Given the description of an element on the screen output the (x, y) to click on. 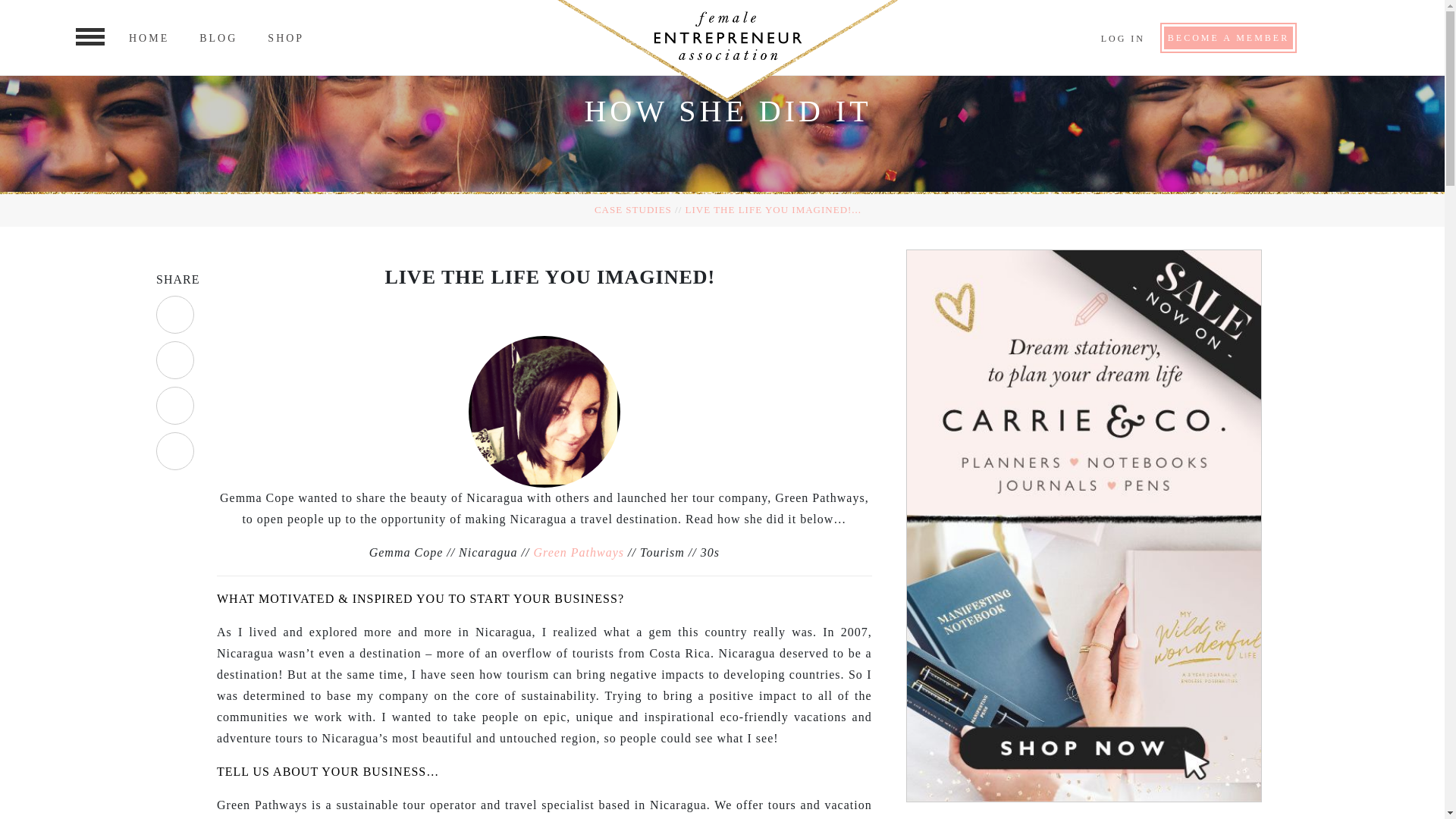
BECOME A MEMBER (1227, 36)
CASE STUDIES (632, 209)
HOME (148, 37)
BLOG (218, 37)
LOG IN (1122, 38)
SHOP (285, 37)
LIVE THE LIFE YOU IMAGINED!... (773, 209)
Green Pathways (578, 552)
